Given the description of an element on the screen output the (x, y) to click on. 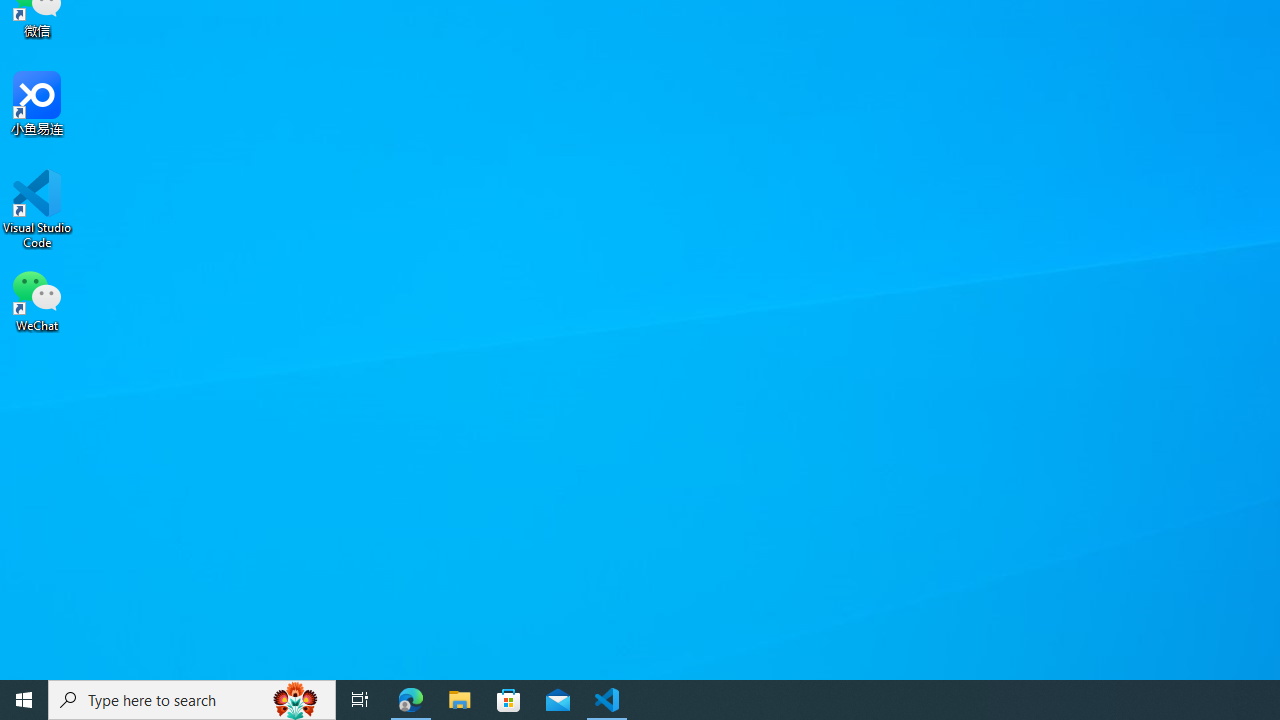
Visual Studio Code (37, 209)
WeChat (37, 299)
